Given the description of an element on the screen output the (x, y) to click on. 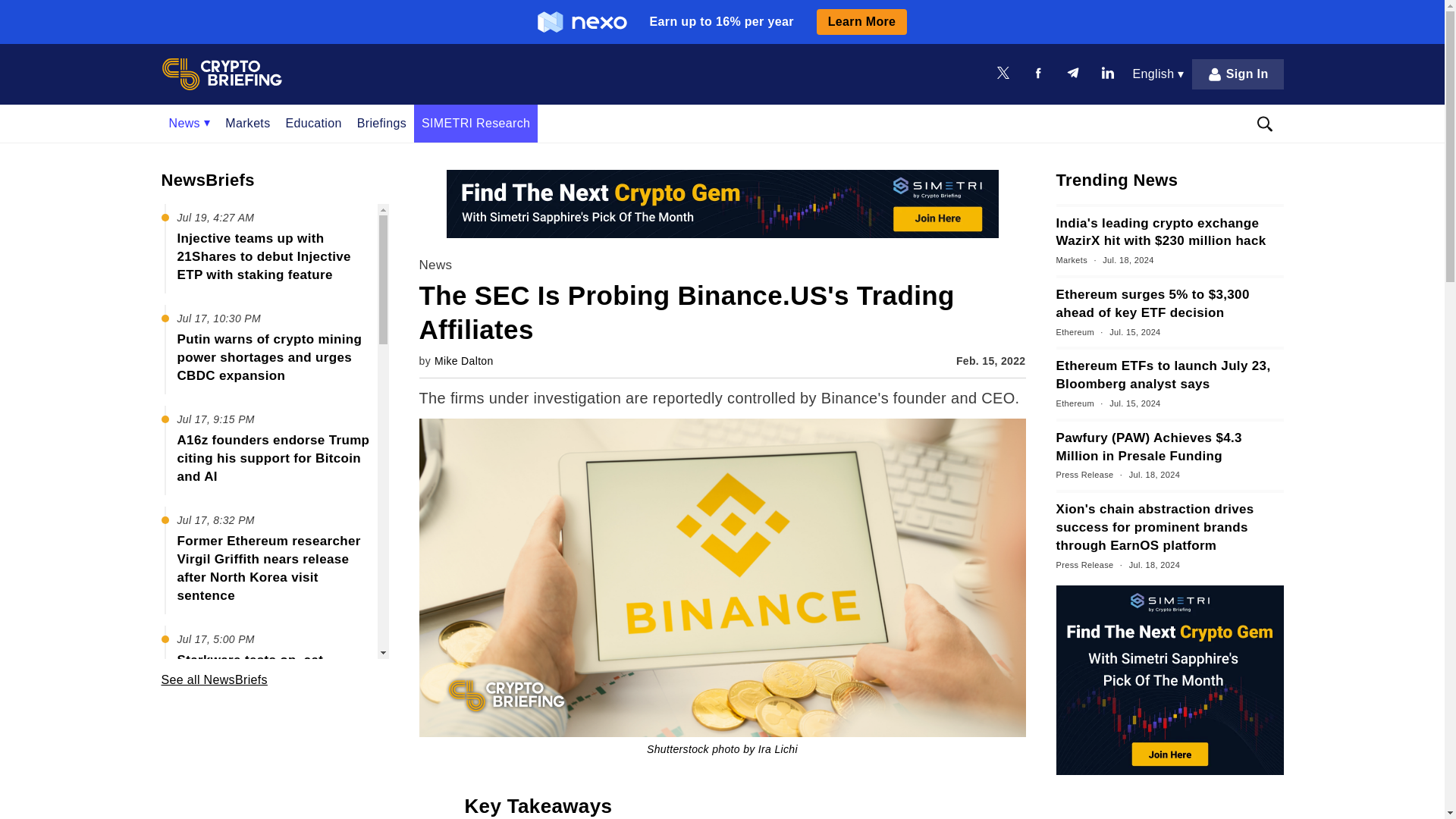
Sign In (1238, 73)
News (188, 123)
Learn More (861, 22)
Sign In (1238, 73)
